Given the description of an element on the screen output the (x, y) to click on. 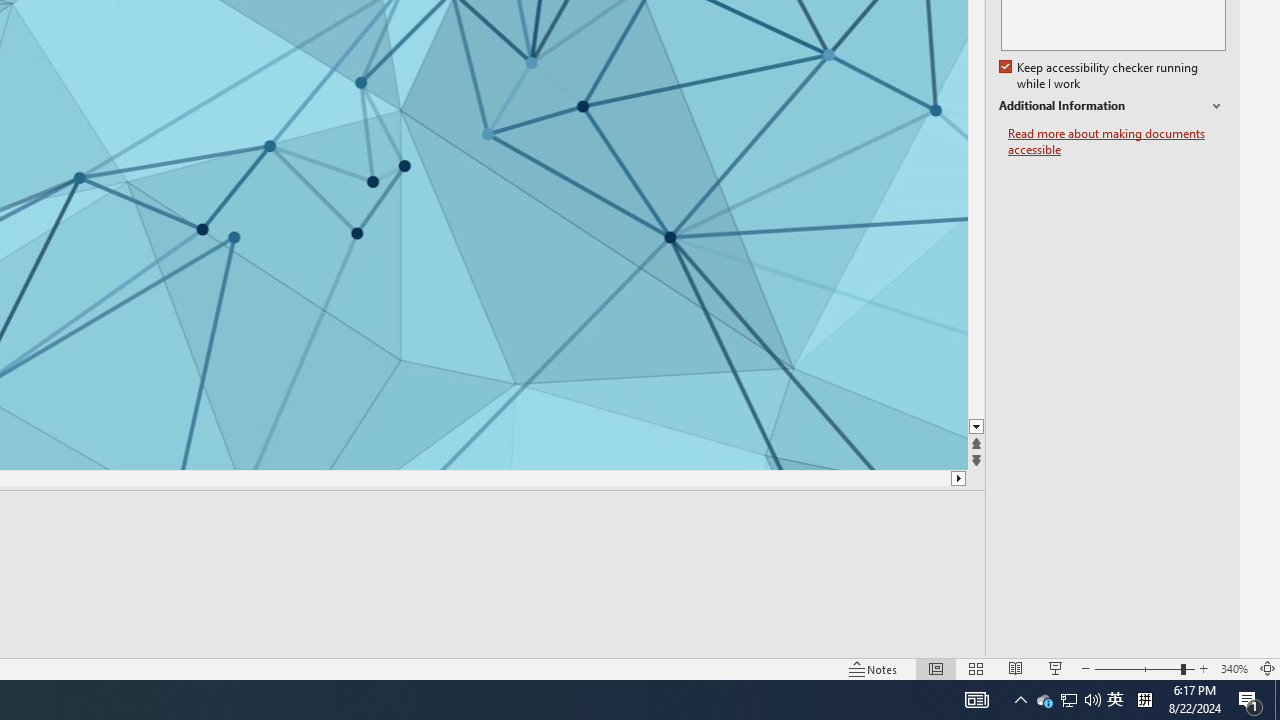
Zoom 340% (1234, 668)
